Given the description of an element on the screen output the (x, y) to click on. 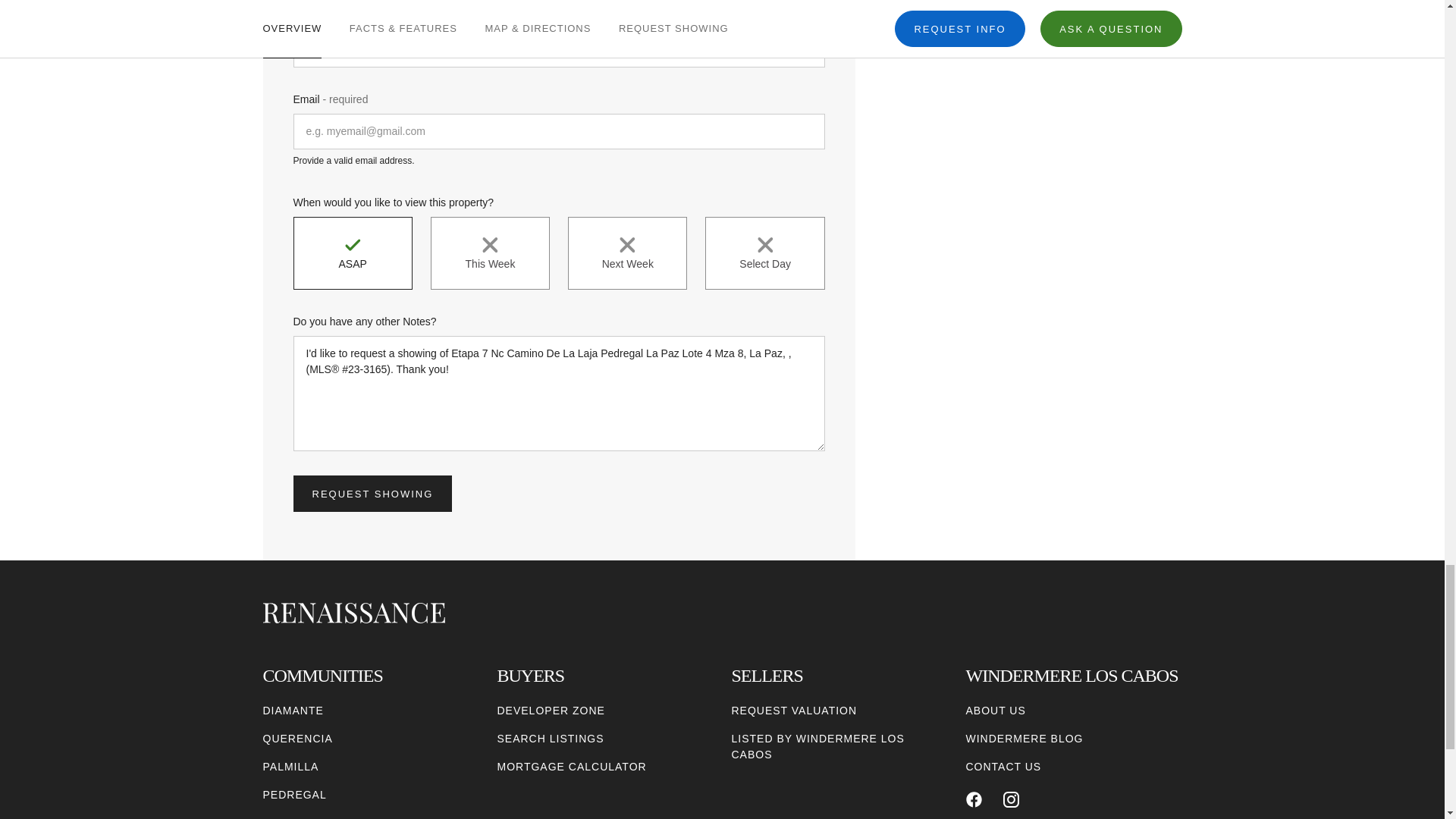
ASAP (352, 253)
FACEBOOK (973, 799)
Next Week (627, 253)
This Week (490, 253)
